Given the description of an element on the screen output the (x, y) to click on. 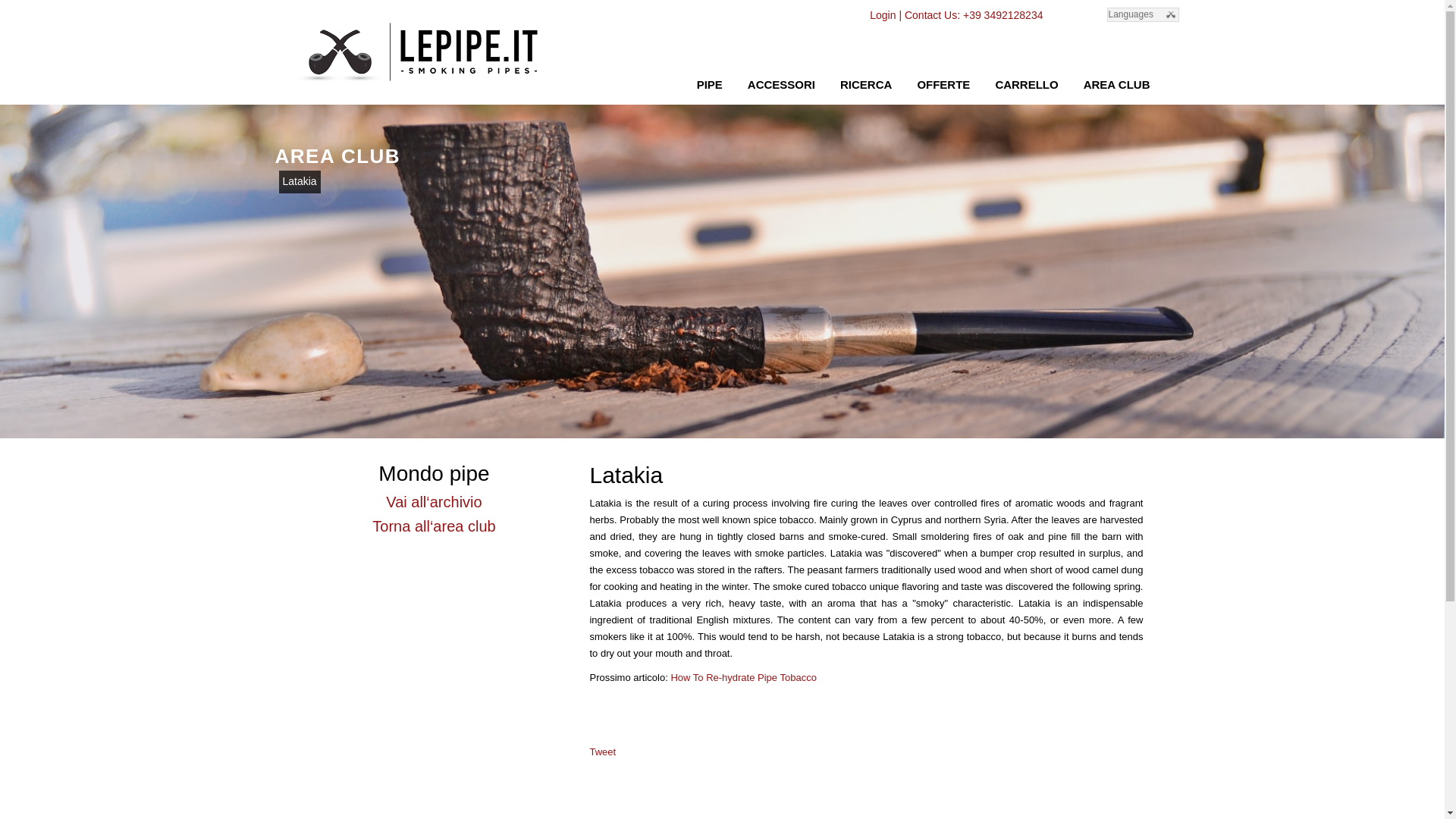
CARRELLO (1026, 83)
How To Re-hydrate Pipe Tobacco (742, 677)
ACCESSORI (781, 83)
RICERCA (865, 83)
AREA CLUB (1116, 83)
Tweet (602, 751)
Login (882, 15)
Login (882, 15)
OFFERTE (943, 83)
PIPE (709, 83)
